Given the description of an element on the screen output the (x, y) to click on. 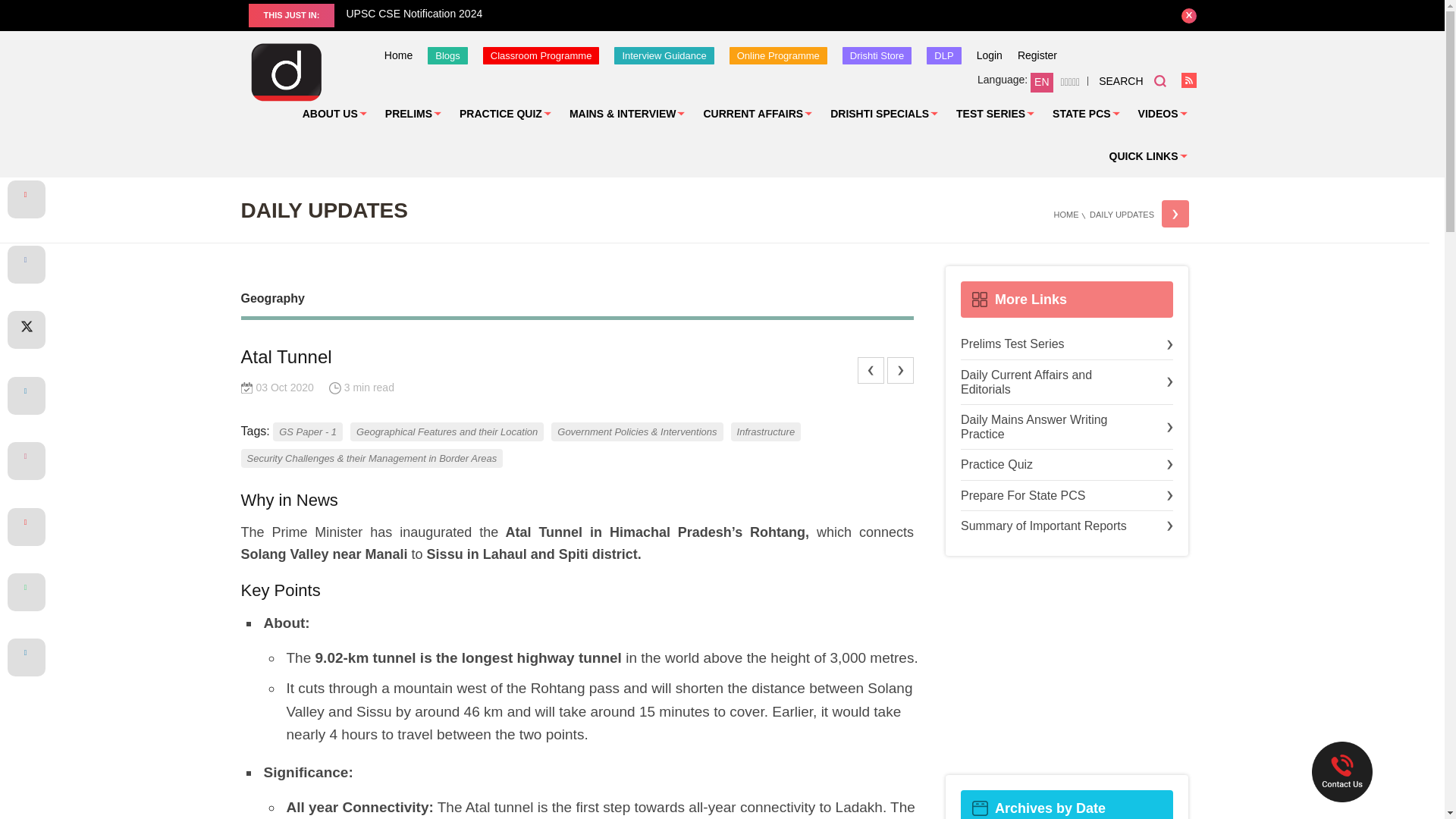
UPSC IFOS Notification - 2024 (173, 13)
close (1188, 14)
EN (1041, 82)
Interview Guidance (663, 55)
SEARCH (1132, 80)
Drishti Store (877, 55)
Register (1037, 54)
UPSC CSE Notification 2024 (748, 13)
DLP (943, 55)
Online Programme (778, 55)
Blogs (447, 55)
RSS (1188, 79)
Advertisement (1066, 665)
ABOUT US (334, 113)
Classroom Programme (541, 55)
